Given the description of an element on the screen output the (x, y) to click on. 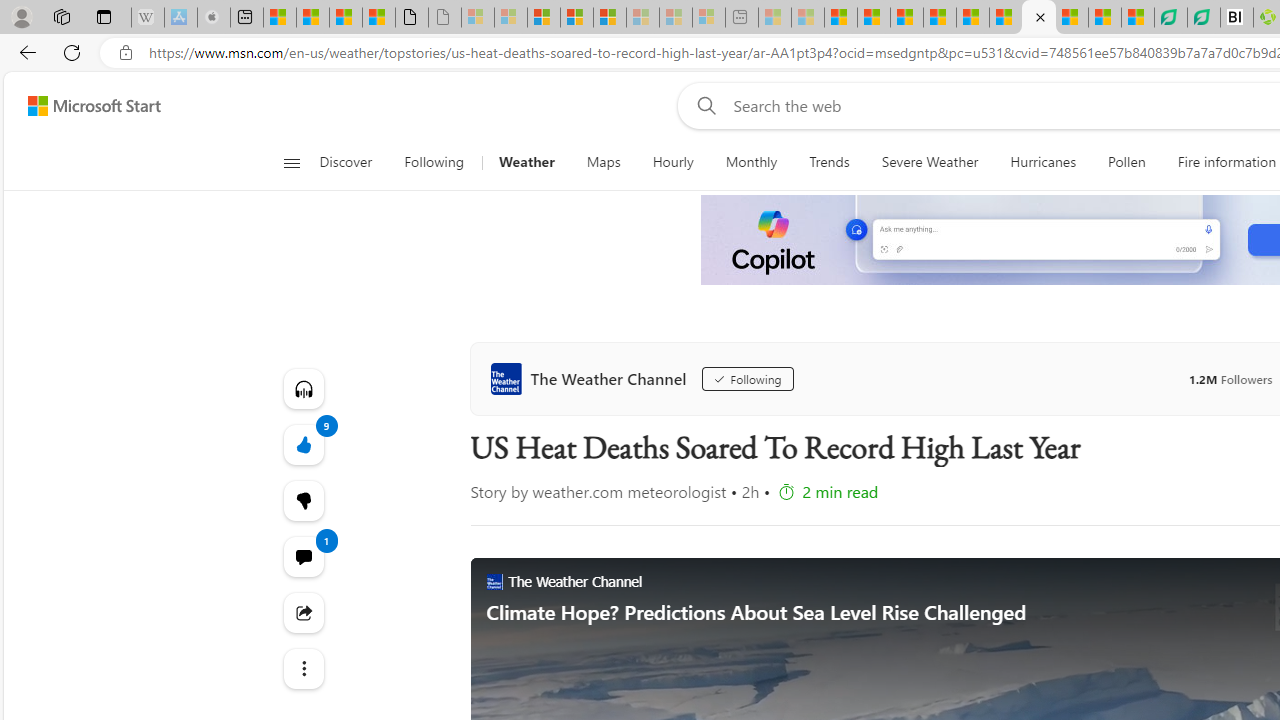
Severe Weather (929, 162)
US Heat Deaths Soared To Record High Last Year (1038, 17)
The Weather Channel (592, 378)
Trends (828, 162)
Fire information (1227, 162)
